Given the description of an element on the screen output the (x, y) to click on. 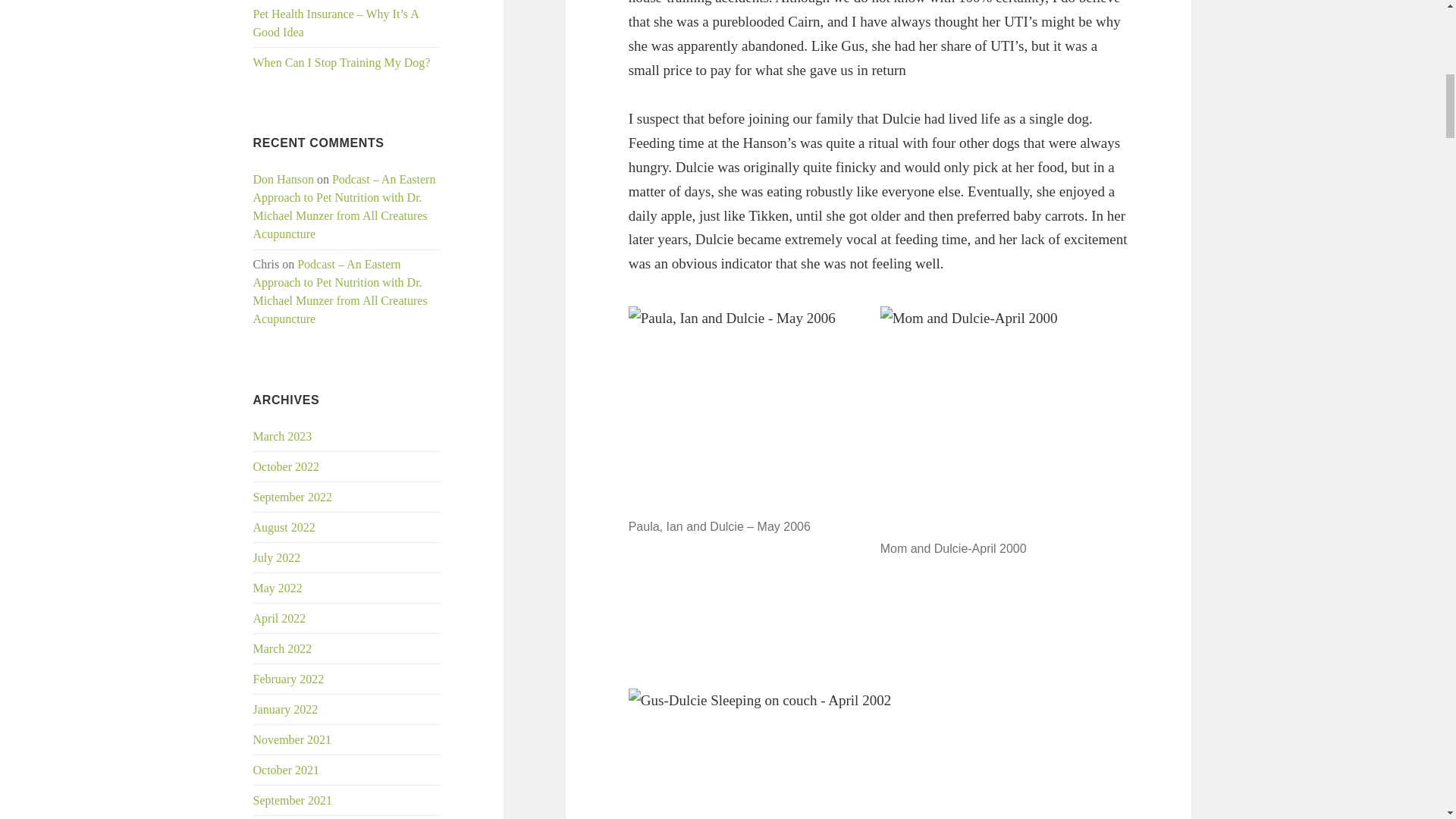
February 2022 (288, 678)
November 2021 (292, 739)
January 2022 (285, 708)
March 2022 (283, 648)
September 2022 (292, 496)
March 2023 (283, 436)
August 2022 (284, 526)
July 2022 (277, 557)
October 2022 (286, 466)
April 2022 (279, 617)
